Given the description of an element on the screen output the (x, y) to click on. 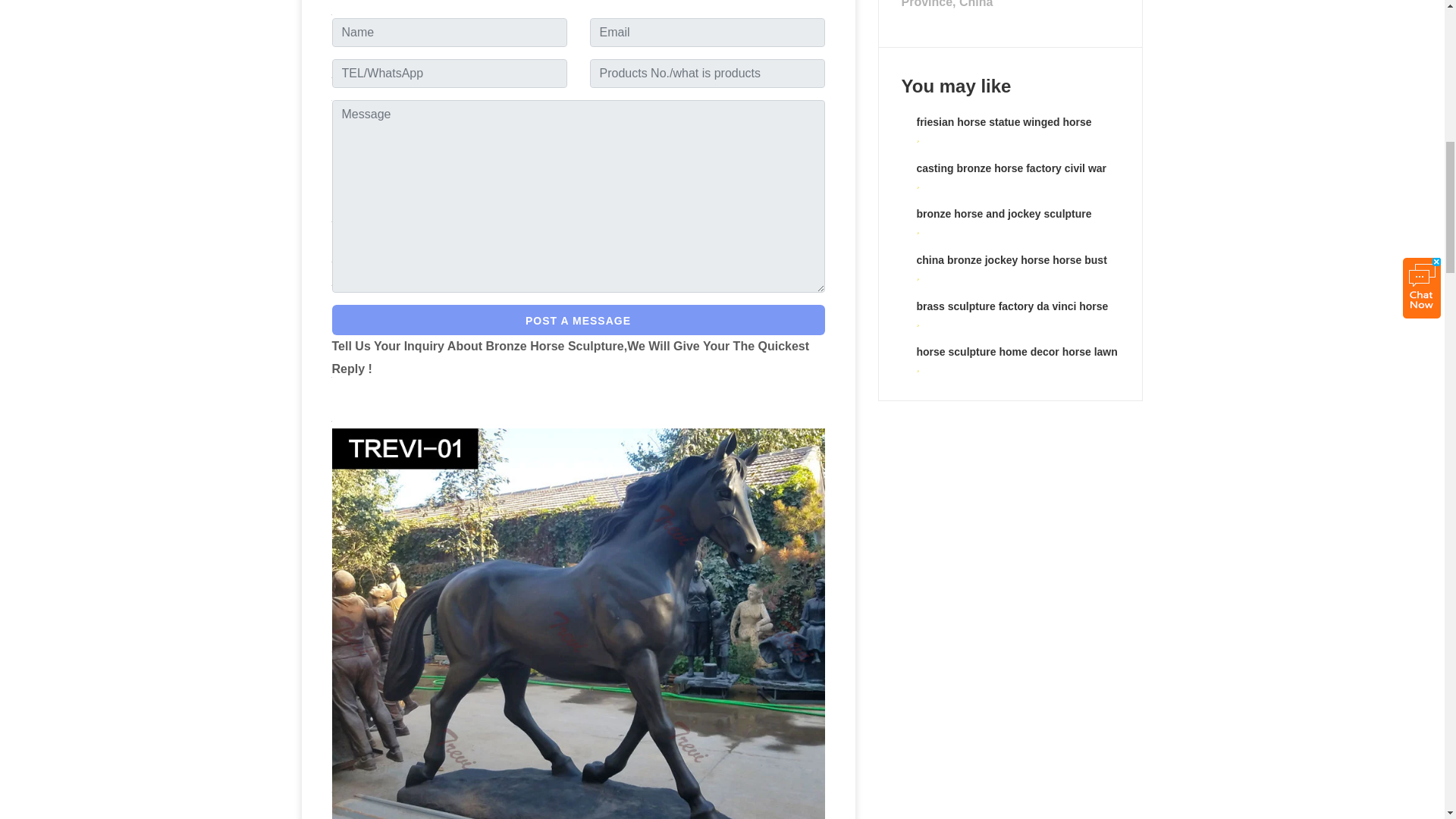
friesian horse statue winged horse sculpture for sale (1002, 130)
casting bronze horse factory civil war sculptures horse legs (1010, 176)
horse sculpture home decor horse lawn statue for sale (1015, 360)
POST A MESSAGE (578, 319)
china bronze jockey horse horse bust statue (1010, 268)
brass sculpture factory da vinci horse sculpture (1011, 315)
casting bronze horse factory civil war sculptures horse legs (1010, 176)
friesian horse statue winged horse sculpture for sale (1002, 130)
